Given the description of an element on the screen output the (x, y) to click on. 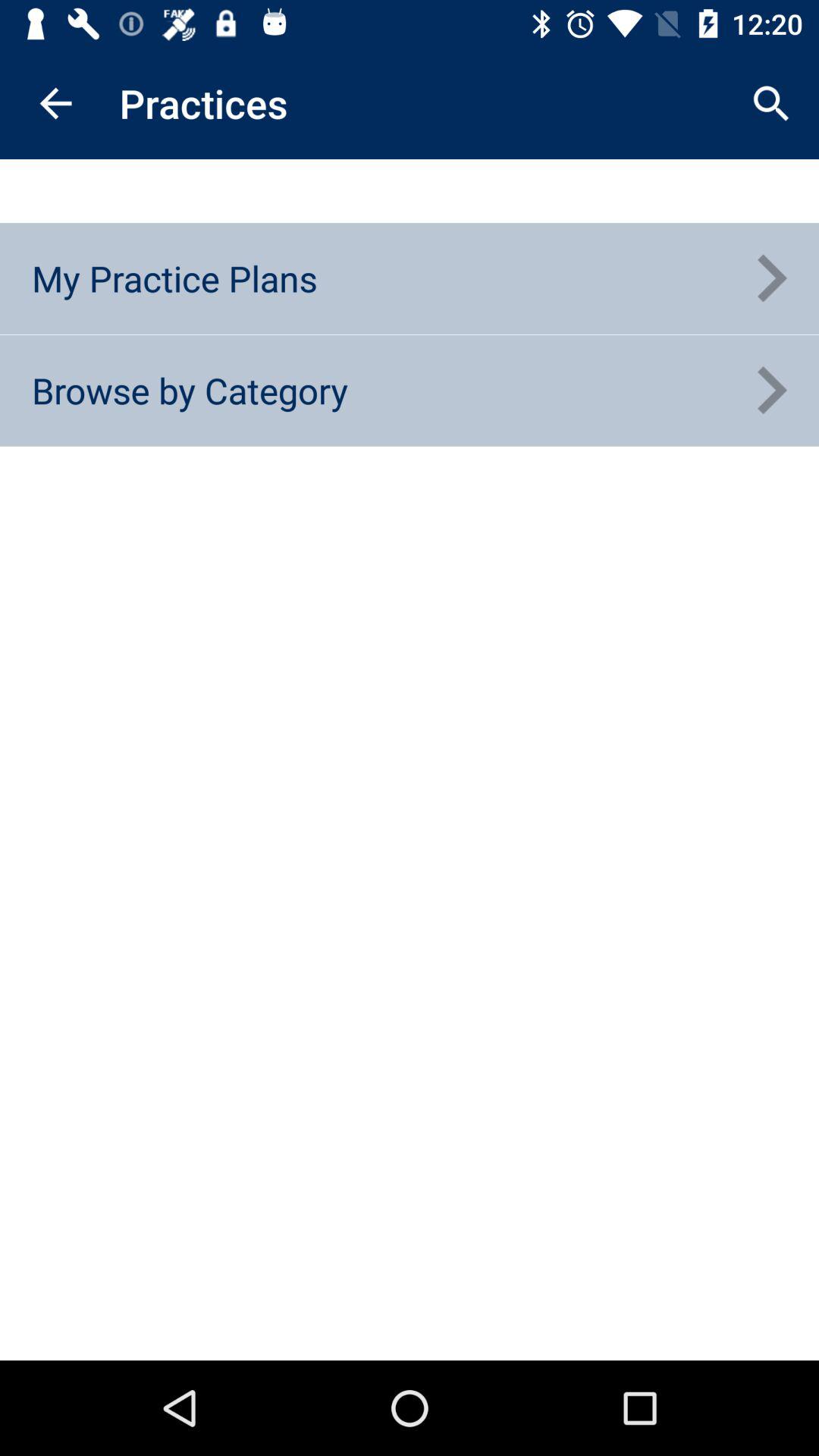
select the item next to my practice plans (771, 278)
